Given the description of an element on the screen output the (x, y) to click on. 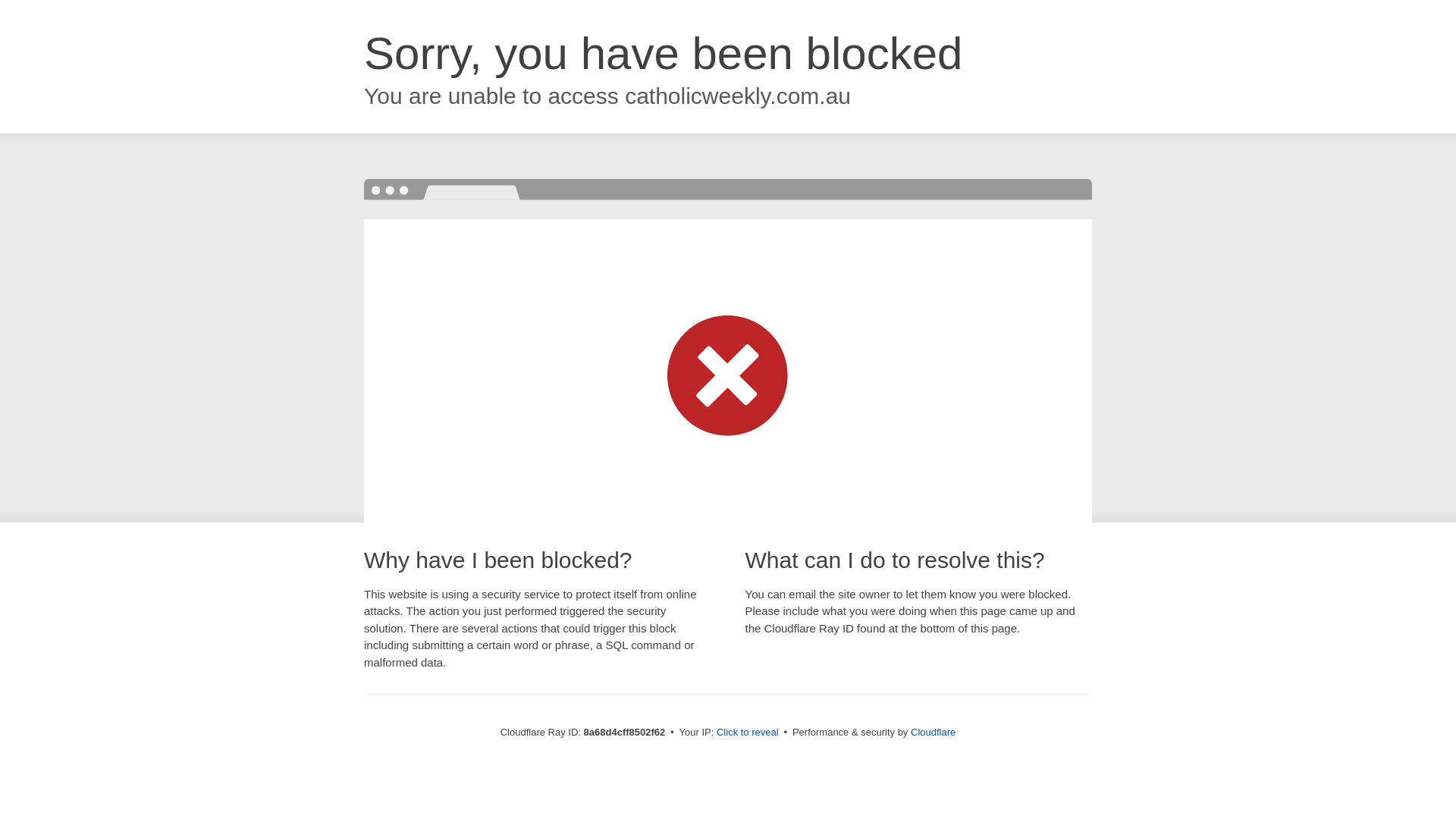
Cloudflare (933, 731)
Click to reveal (747, 732)
